Given the description of an element on the screen output the (x, y) to click on. 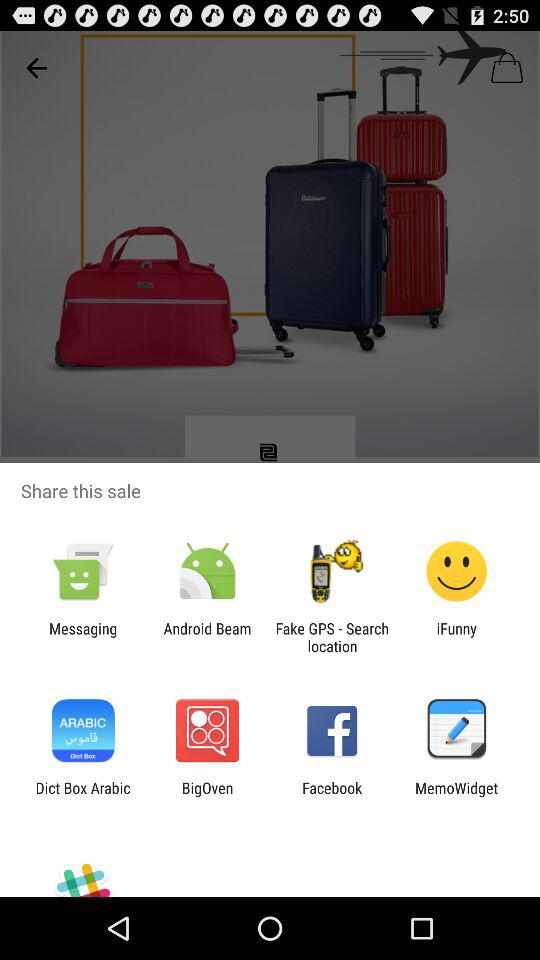
choose ifunny (456, 637)
